Given the description of an element on the screen output the (x, y) to click on. 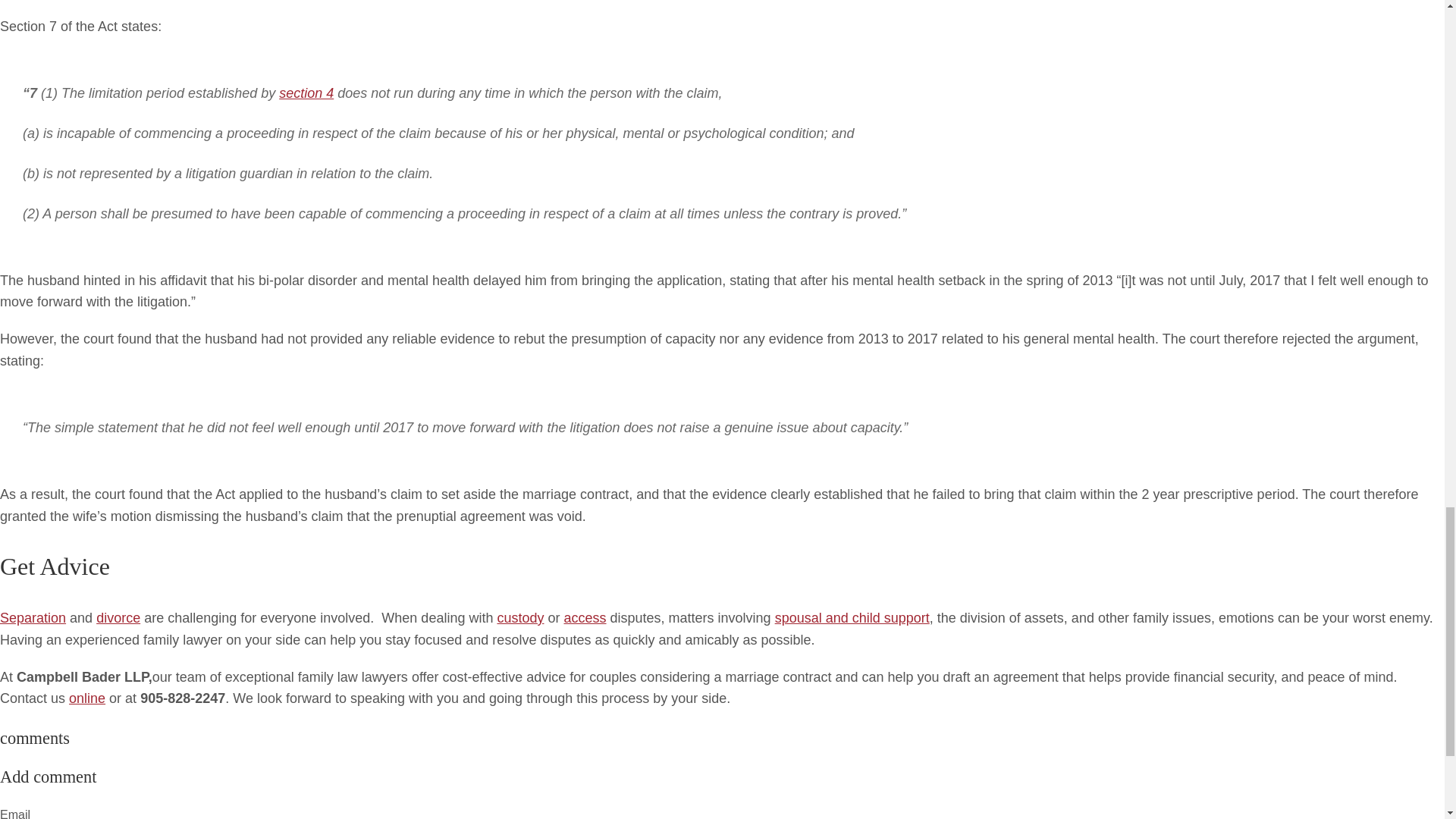
spousal and child support (852, 617)
online (86, 698)
Separation (32, 617)
divorce (117, 617)
section 4 (306, 92)
access (585, 617)
custody (519, 617)
